Given the description of an element on the screen output the (x, y) to click on. 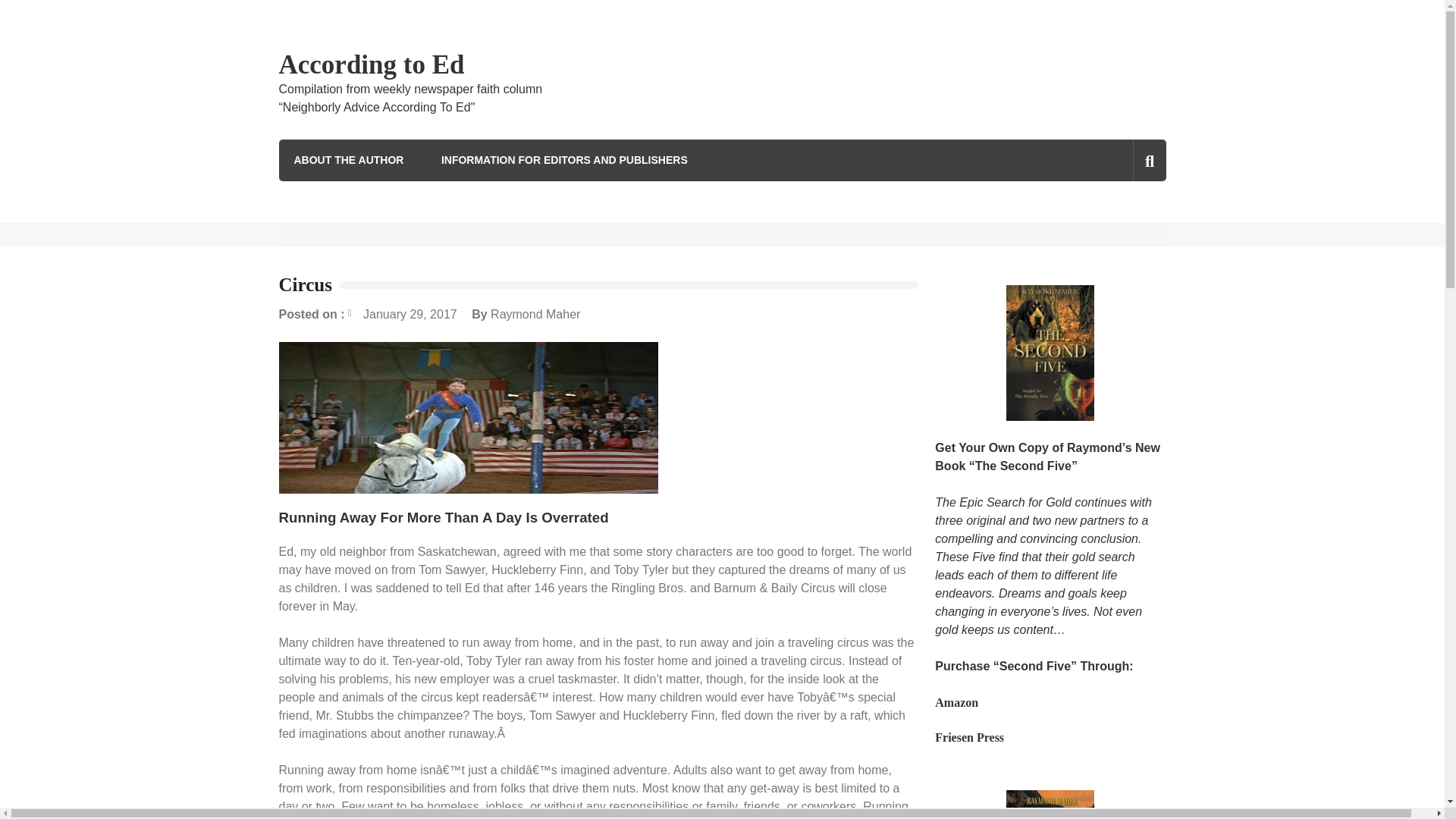
Posts by Raymond Maher (534, 314)
Friesen Press Second Five (969, 737)
According to Ed (371, 64)
thedealyfiveebook (1050, 804)
ABOUT THE AUTHOR (349, 159)
Search (1120, 225)
INFORMATION FOR EDITORS AND PUBLISHERS (564, 159)
Amazon Second Five (956, 702)
